Given the description of an element on the screen output the (x, y) to click on. 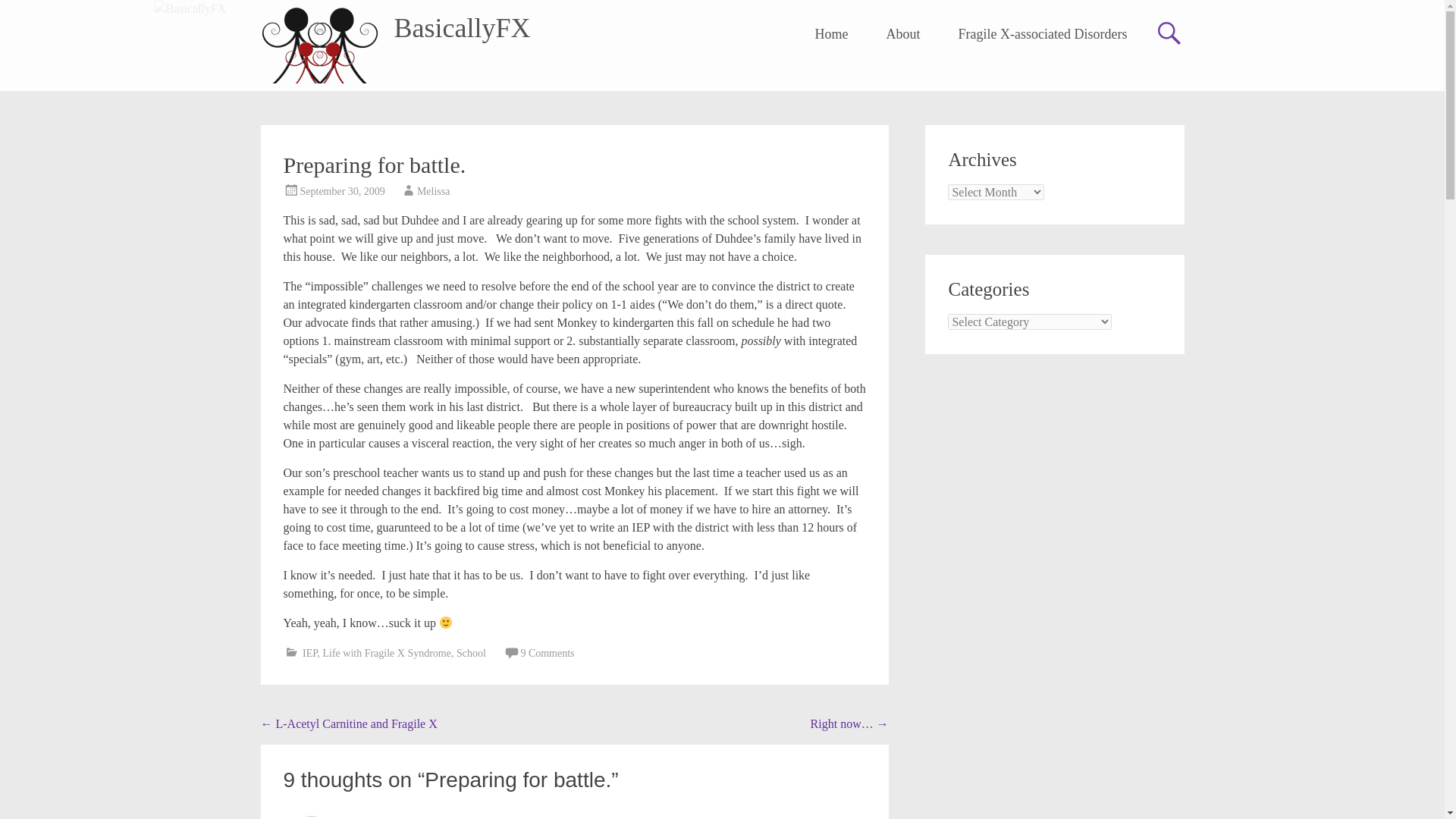
Home (831, 33)
September 30, 2009 (342, 191)
Life with Fragile X Syndrome (386, 653)
BasicallyFX (462, 28)
About (903, 33)
School (471, 653)
9 Comments (546, 653)
IEP (309, 653)
BasicallyFX (462, 28)
Fragile X-associated Disorders (1043, 33)
Melissa (432, 191)
